Given the description of an element on the screen output the (x, y) to click on. 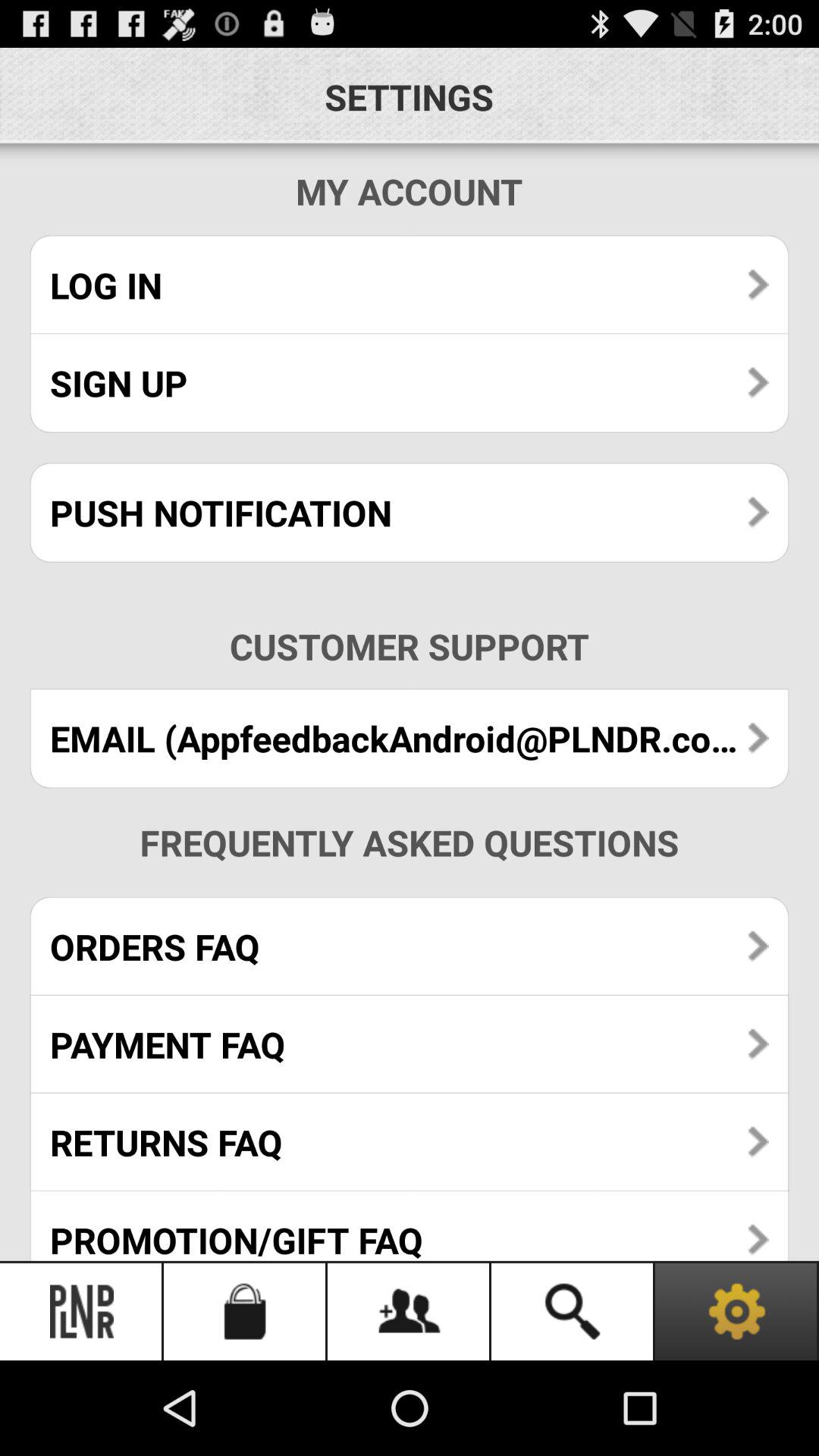
select the app above returns faq (409, 1044)
